Given the description of an element on the screen output the (x, y) to click on. 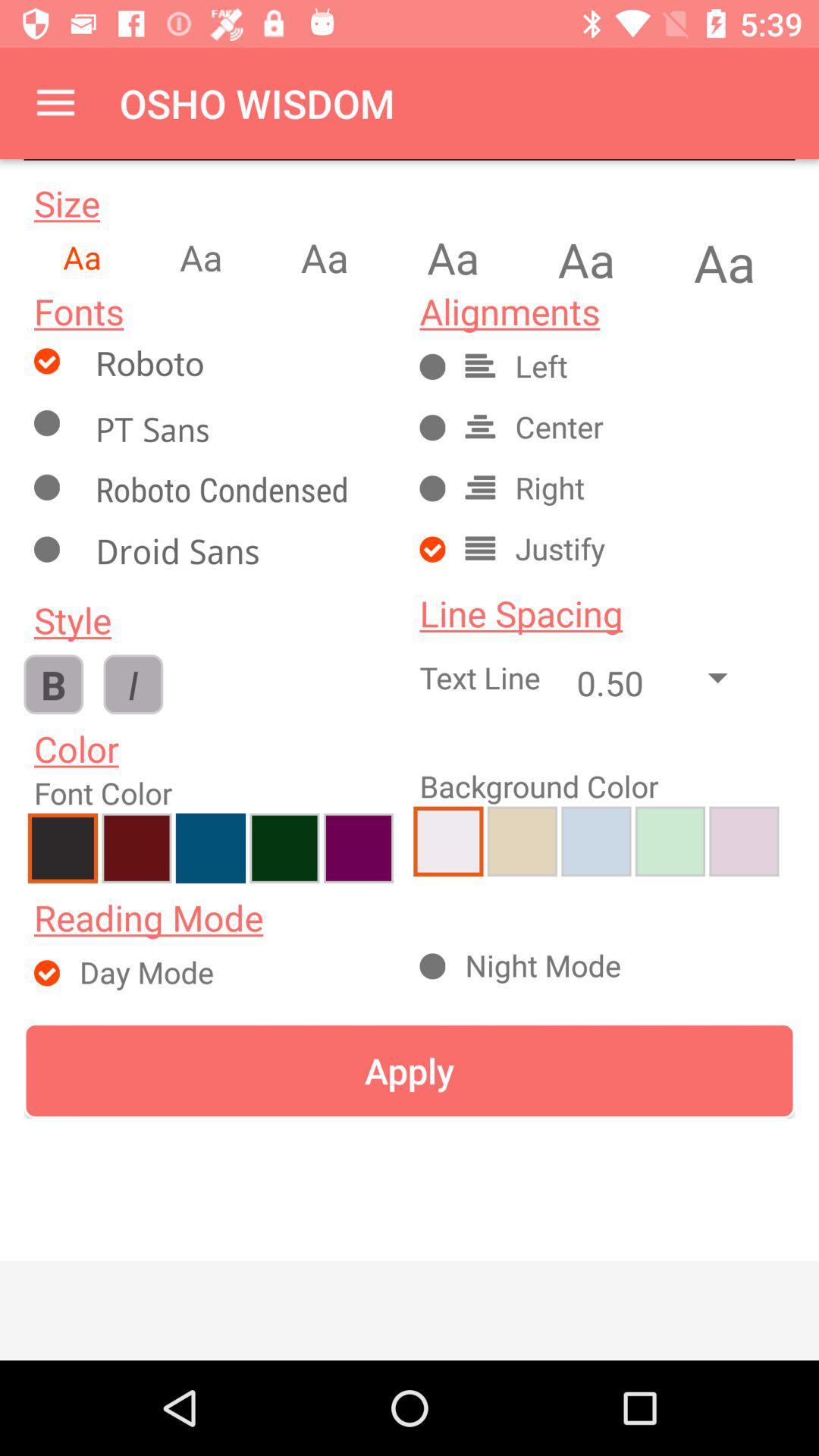
select font color (284, 848)
